Given the description of an element on the screen output the (x, y) to click on. 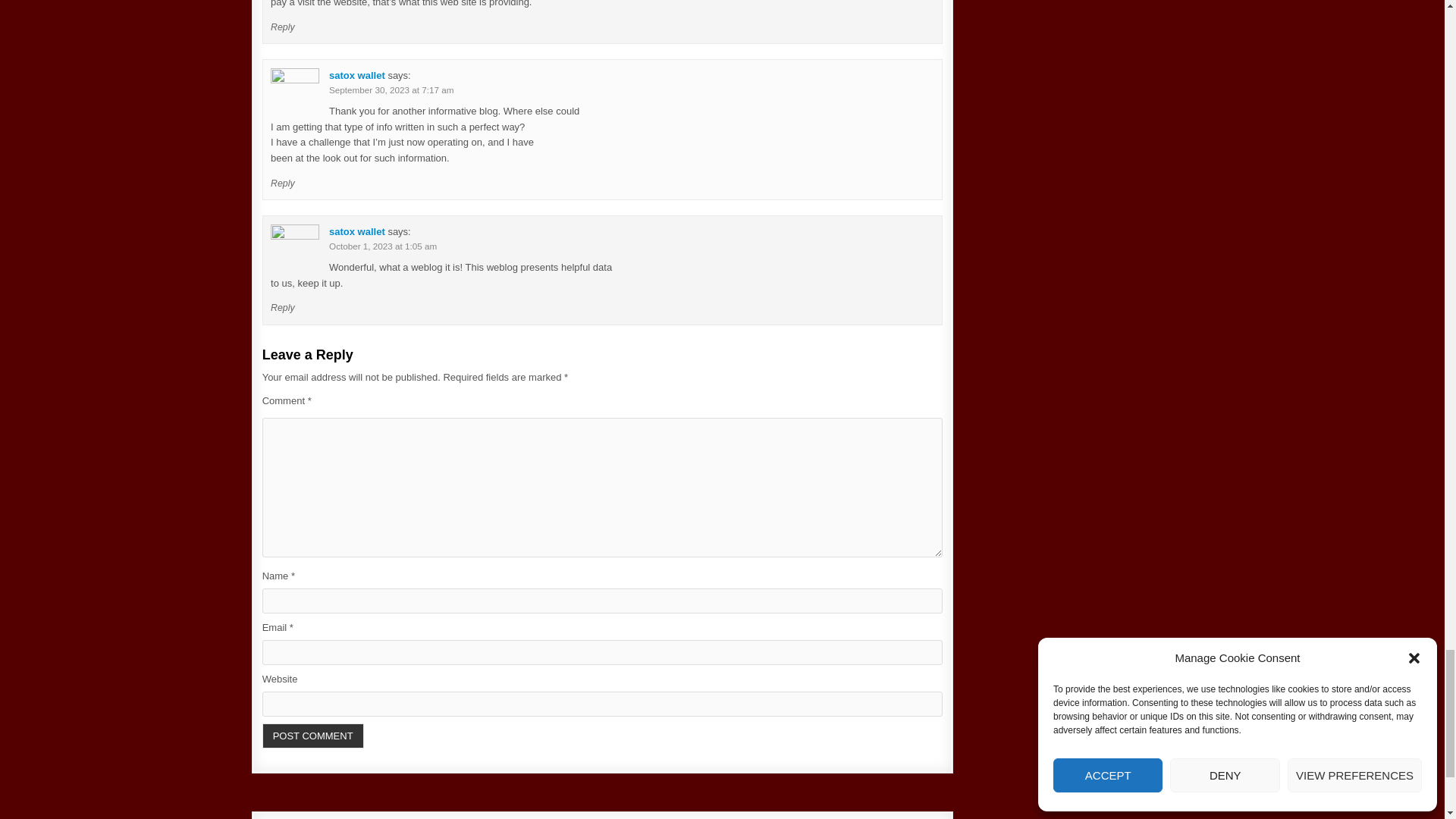
Post Comment (313, 735)
